Given the description of an element on the screen output the (x, y) to click on. 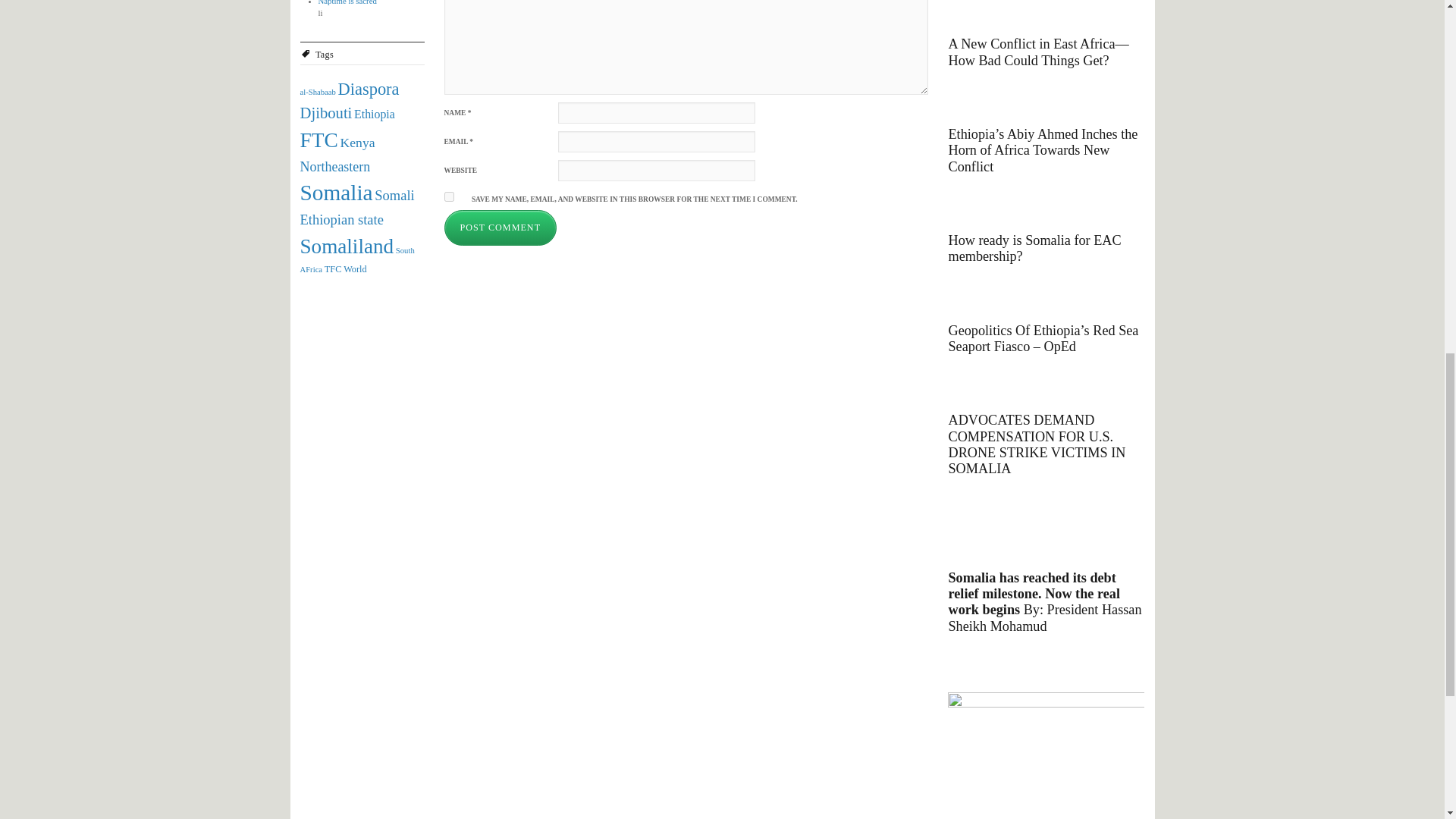
TFC (333, 268)
Ethiopia (373, 113)
Diaspora (367, 88)
South AFrica (356, 259)
al-Shabaab (317, 91)
World (354, 268)
Post Comment (500, 227)
Djibouti (325, 112)
yes (449, 196)
Somali Ethiopian state (356, 207)
Kenya (357, 142)
Northeastern (335, 166)
FTC (318, 139)
Somalia (335, 192)
Somaliland (346, 246)
